Given the description of an element on the screen output the (x, y) to click on. 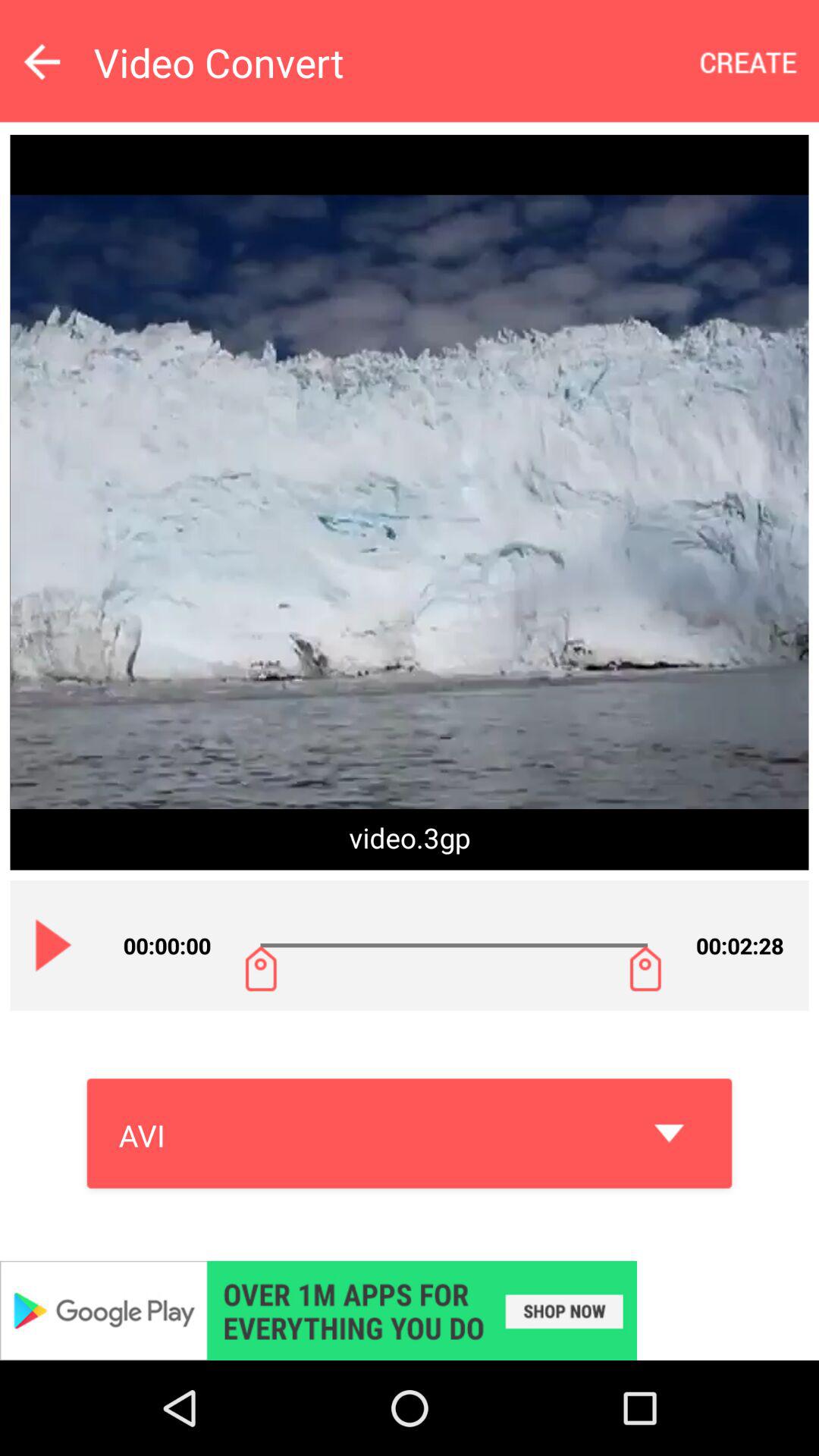
select create (749, 62)
